Given the description of an element on the screen output the (x, y) to click on. 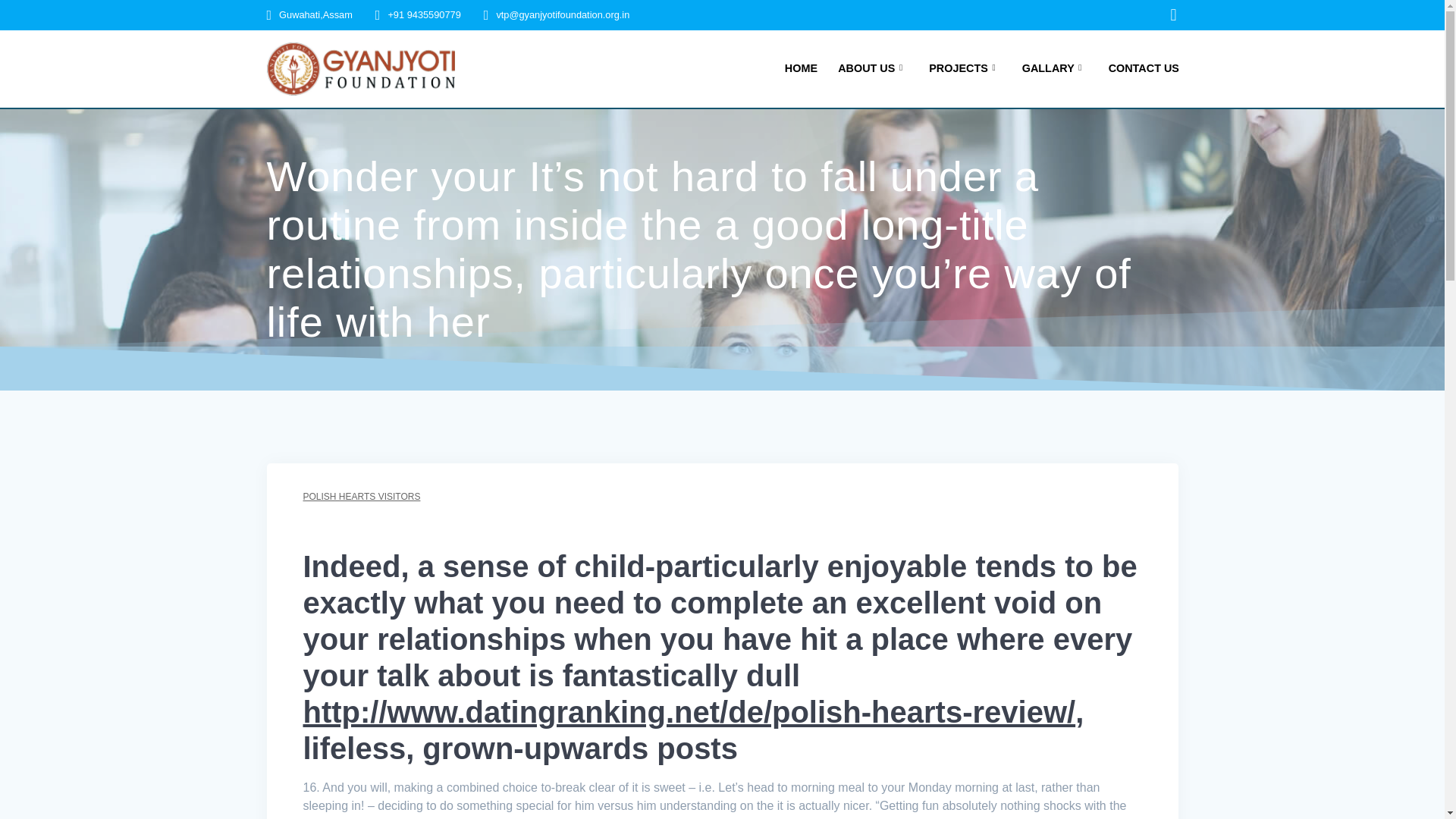
PROJECTS (964, 67)
GALLARY (1054, 67)
HOME (800, 67)
POLISH HEARTS VISITORS (361, 496)
ABOUT US (873, 67)
CONTACT US (1143, 67)
